Given the description of an element on the screen output the (x, y) to click on. 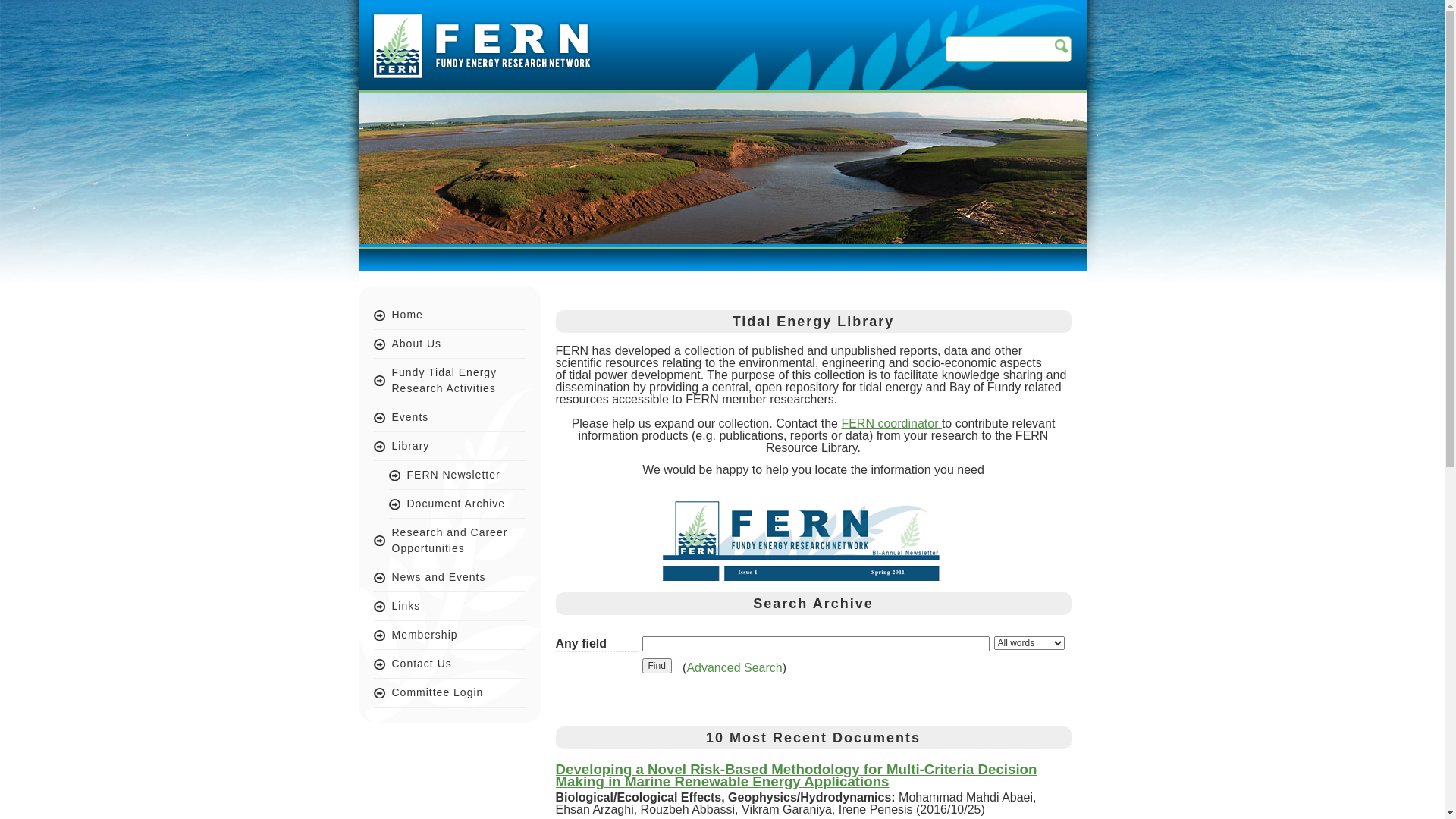
Document Archive Element type: text (456, 503)
FERN Newsletter Element type: text (456, 475)
http://fern.acadiau.ca/newsletter.html Element type: hover (798, 576)
Advanced Search Element type: text (733, 667)
Links Element type: text (448, 606)
Fundy Tidal Energy Research Activities Element type: text (448, 380)
FERN coordinator Element type: text (890, 423)
Find Element type: text (656, 665)
Research and Career Opportunities Element type: text (448, 540)
Committee Login Element type: text (448, 692)
News and Events Element type: text (448, 577)
Membership Element type: text (448, 635)
Home Element type: text (448, 315)
Contact Us Element type: text (448, 663)
Events Element type: text (448, 417)
About Us Element type: text (448, 343)
Search Element type: text (1060, 46)
